Given the description of an element on the screen output the (x, y) to click on. 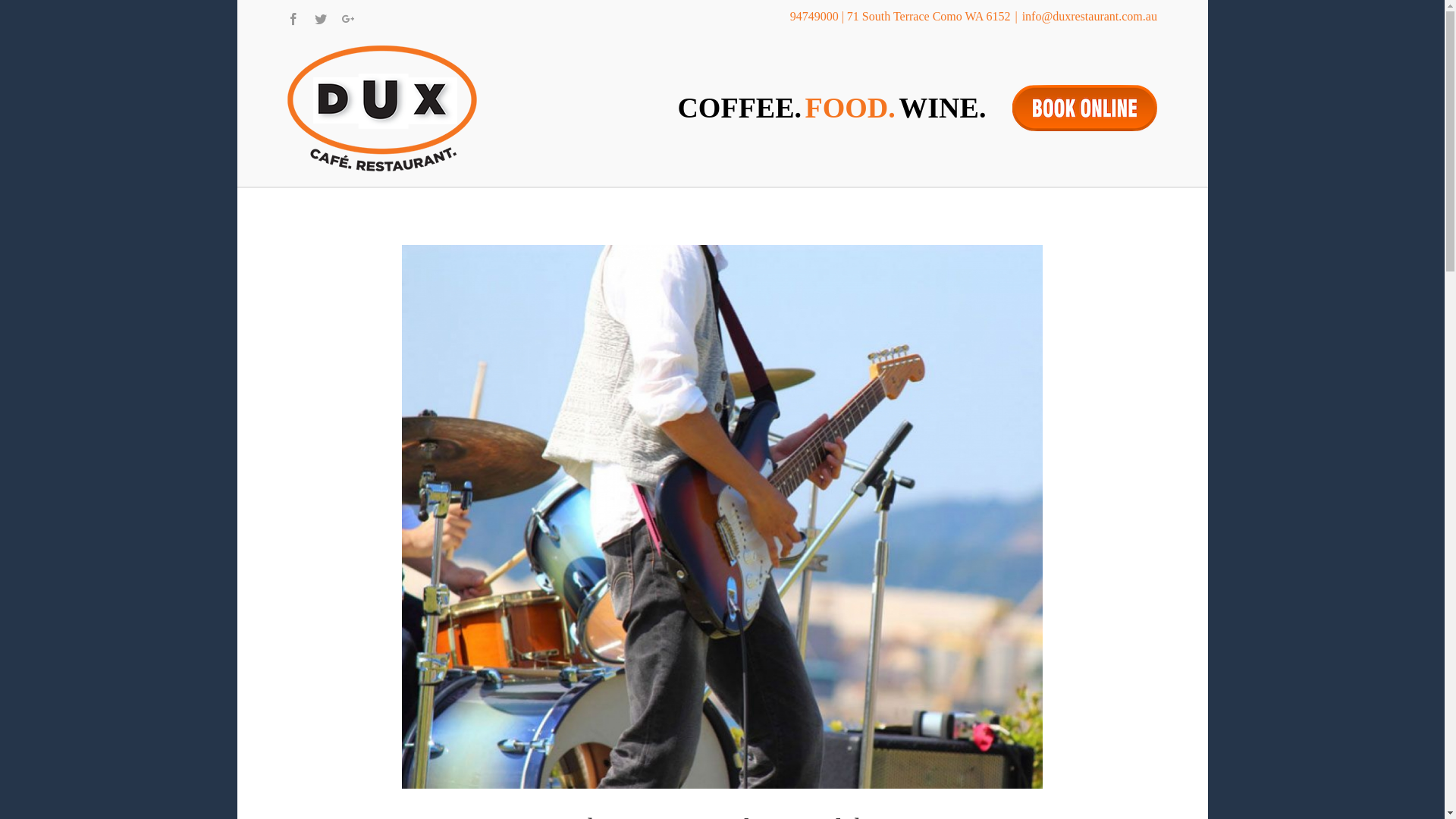
Google+ Element type: text (348, 18)
info@duxrestaurant.com.au Element type: text (1089, 15)
Facebook Element type: text (293, 18)
Twitter Element type: text (320, 18)
View Larger Image Element type: text (721, 516)
